Given the description of an element on the screen output the (x, y) to click on. 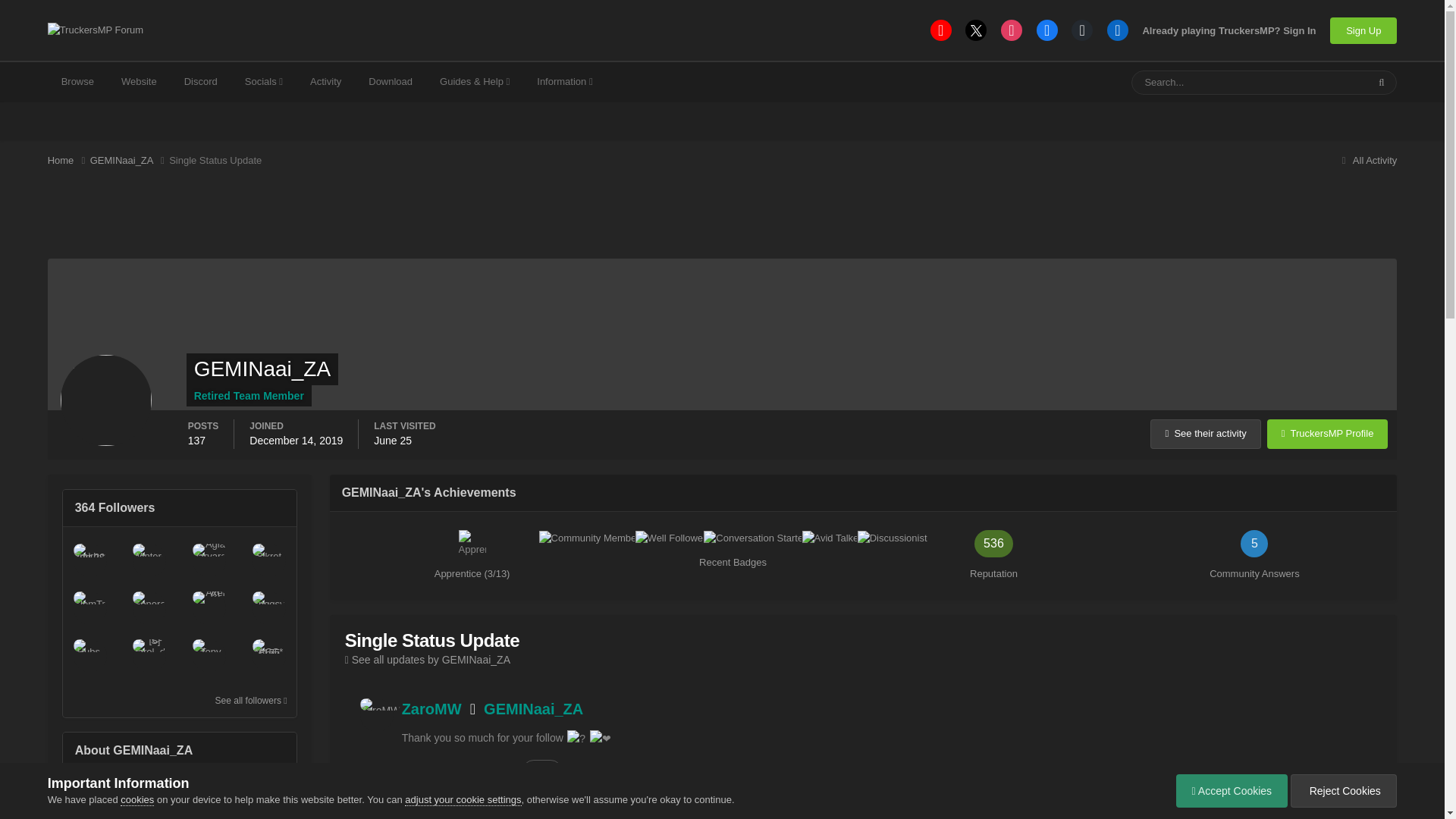
Socials (264, 82)
Emirhan kurt 29 (89, 560)
Website (138, 82)
Home (69, 160)
View TruckersMP Profile (1327, 433)
ClemTruck. (89, 607)
Sign Up (1363, 29)
Already playing TruckersMP? Sign In (1228, 30)
Browse (77, 82)
Go to Sikret's profile (268, 560)
Go to Agia Varvara's profile (208, 560)
Agia Varvara (208, 560)
Go to ClemTruck.'s profile (90, 607)
Sikret (268, 560)
Activity (326, 82)
